Given the description of an element on the screen output the (x, y) to click on. 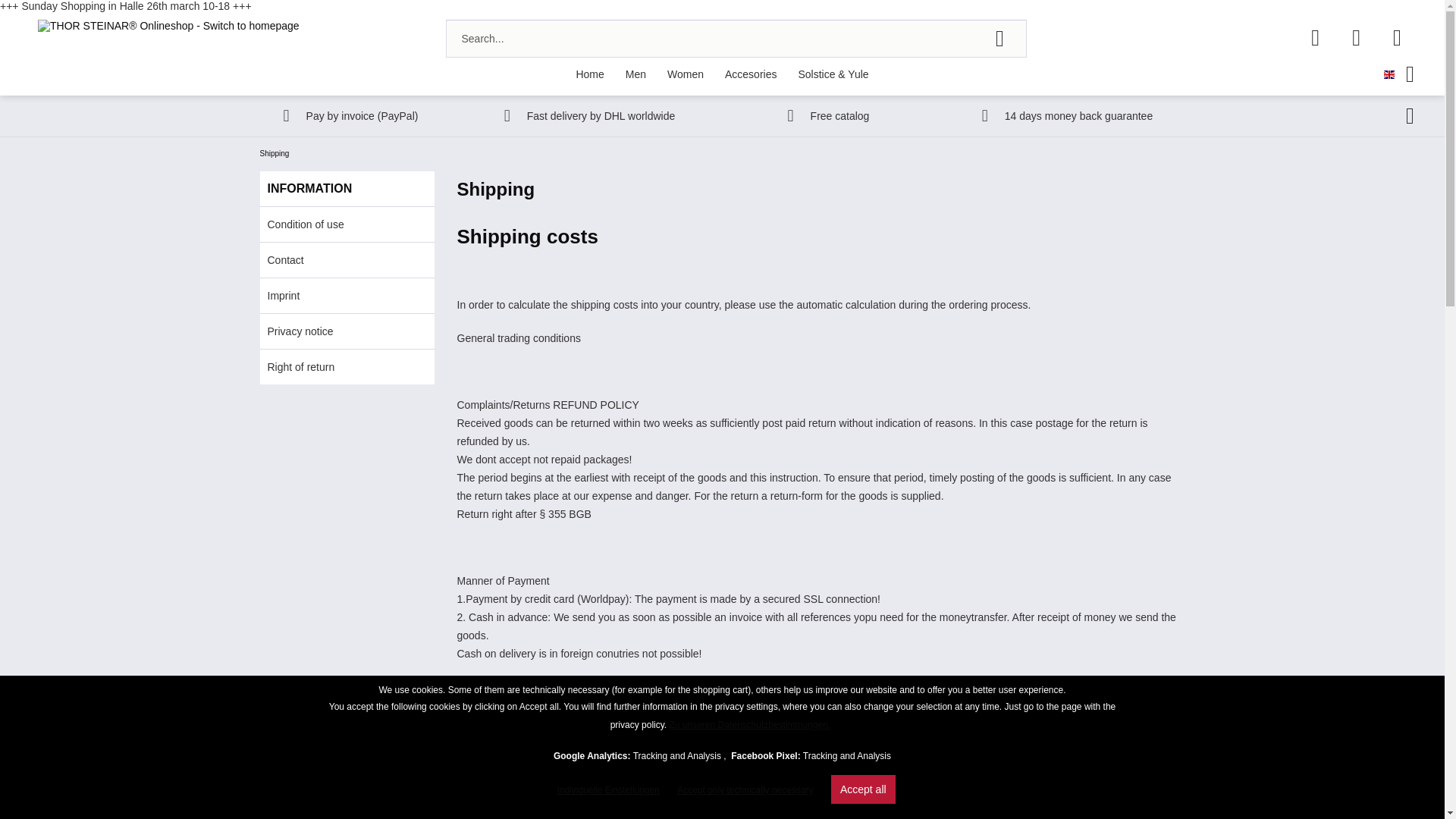
Women (685, 74)
Men (635, 74)
Men (635, 74)
Accesories (750, 74)
Home (589, 74)
Home (589, 74)
Wish list (1315, 37)
Home (589, 74)
Men (635, 74)
Women (685, 74)
